Given the description of an element on the screen output the (x, y) to click on. 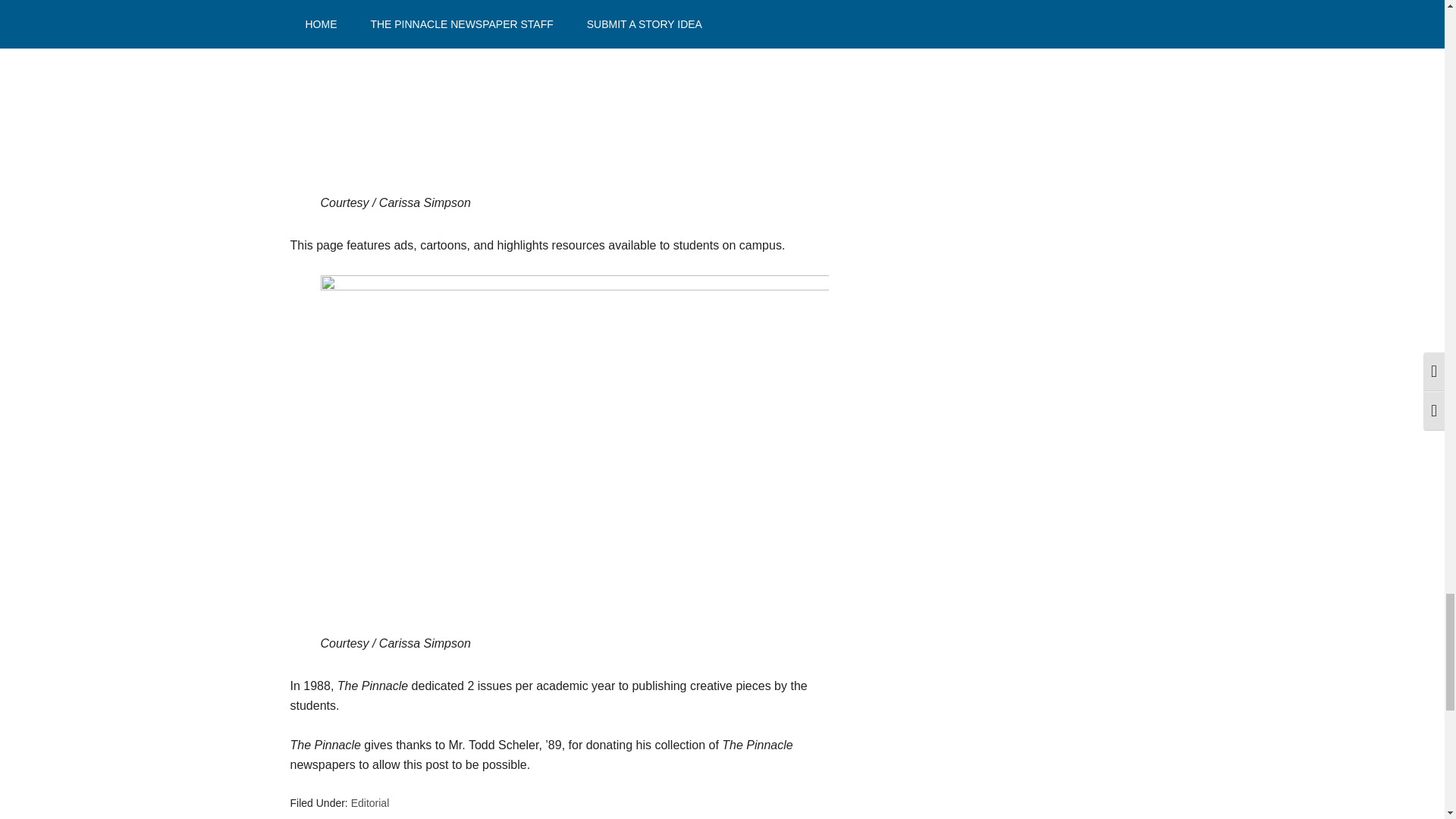
Editorial (370, 802)
